Given the description of an element on the screen output the (x, y) to click on. 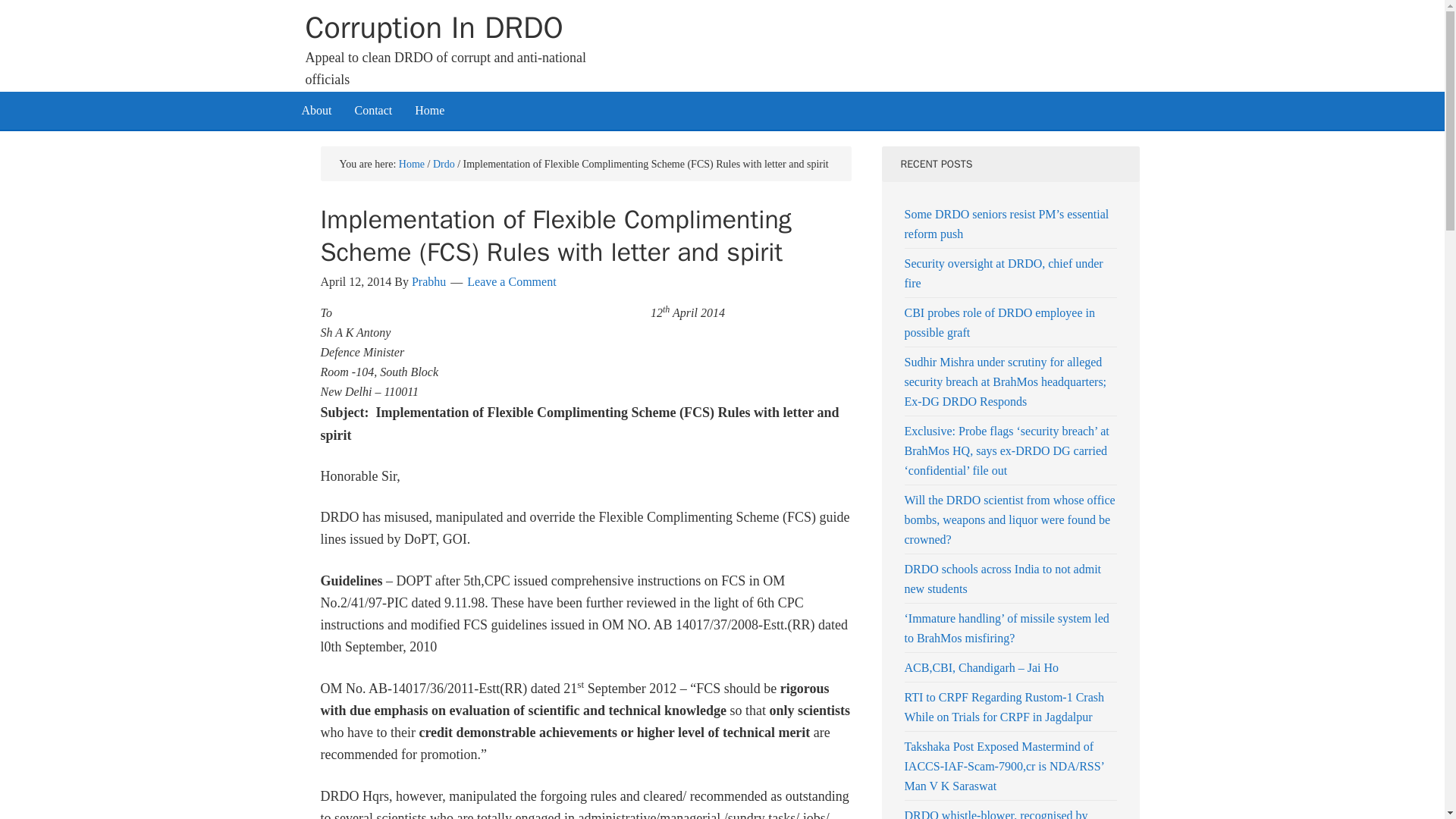
Drdo (443, 163)
CBI probes role of DRDO employee in possible graft (999, 322)
Home (411, 163)
Prabhu (428, 281)
Security oversight at DRDO, chief under fire (1003, 273)
About (315, 109)
Contact (372, 109)
DRDO schools across India to not admit new students (1002, 578)
Leave a Comment (511, 281)
